Given the description of an element on the screen output the (x, y) to click on. 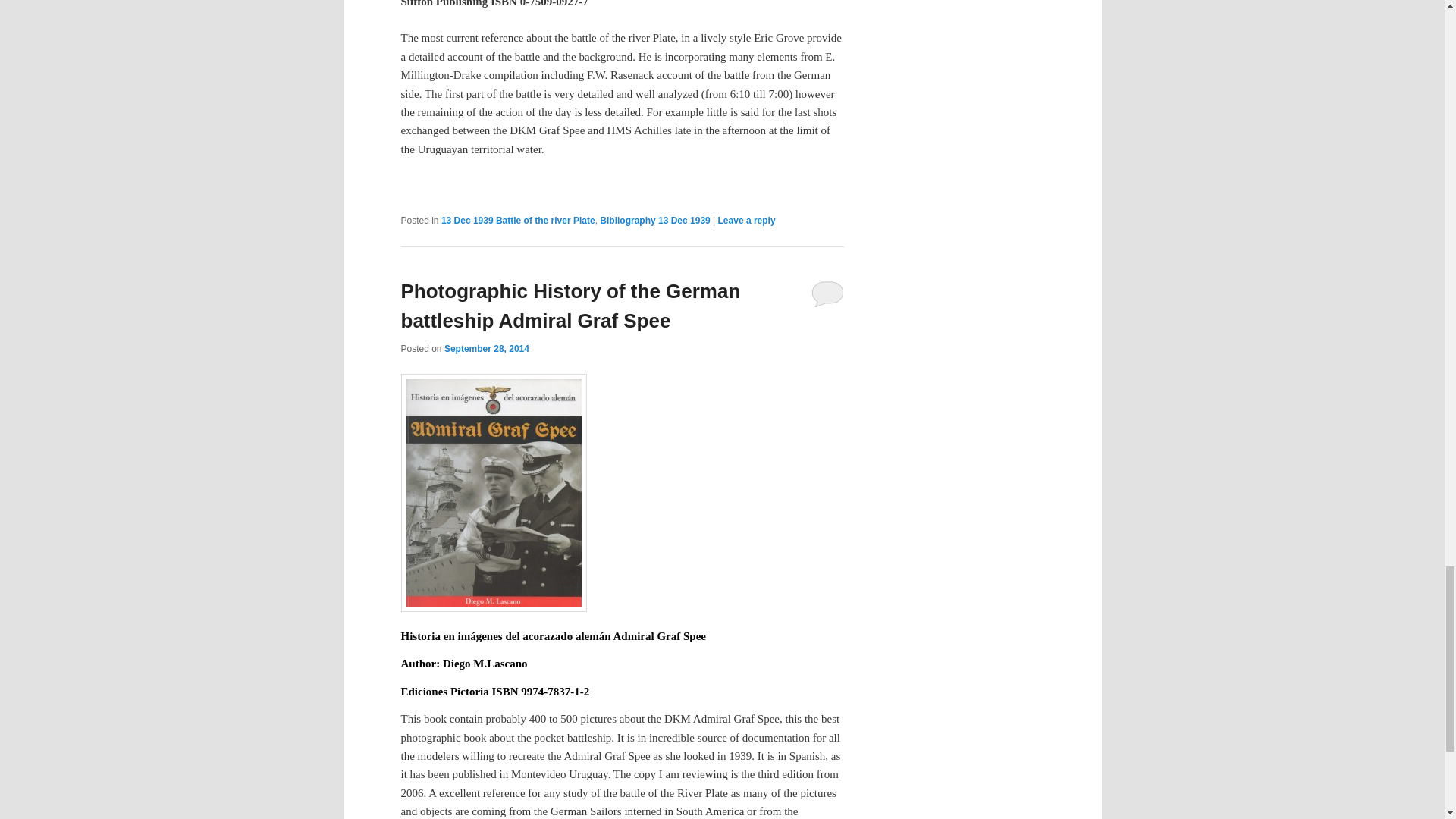
Leave a reply (746, 220)
September 28, 2014 (486, 348)
13 Dec 1939 Battle of the river Plate (518, 220)
10:42 pm (486, 348)
Bibliography 13 Dec 1939 (654, 220)
